Given the description of an element on the screen output the (x, y) to click on. 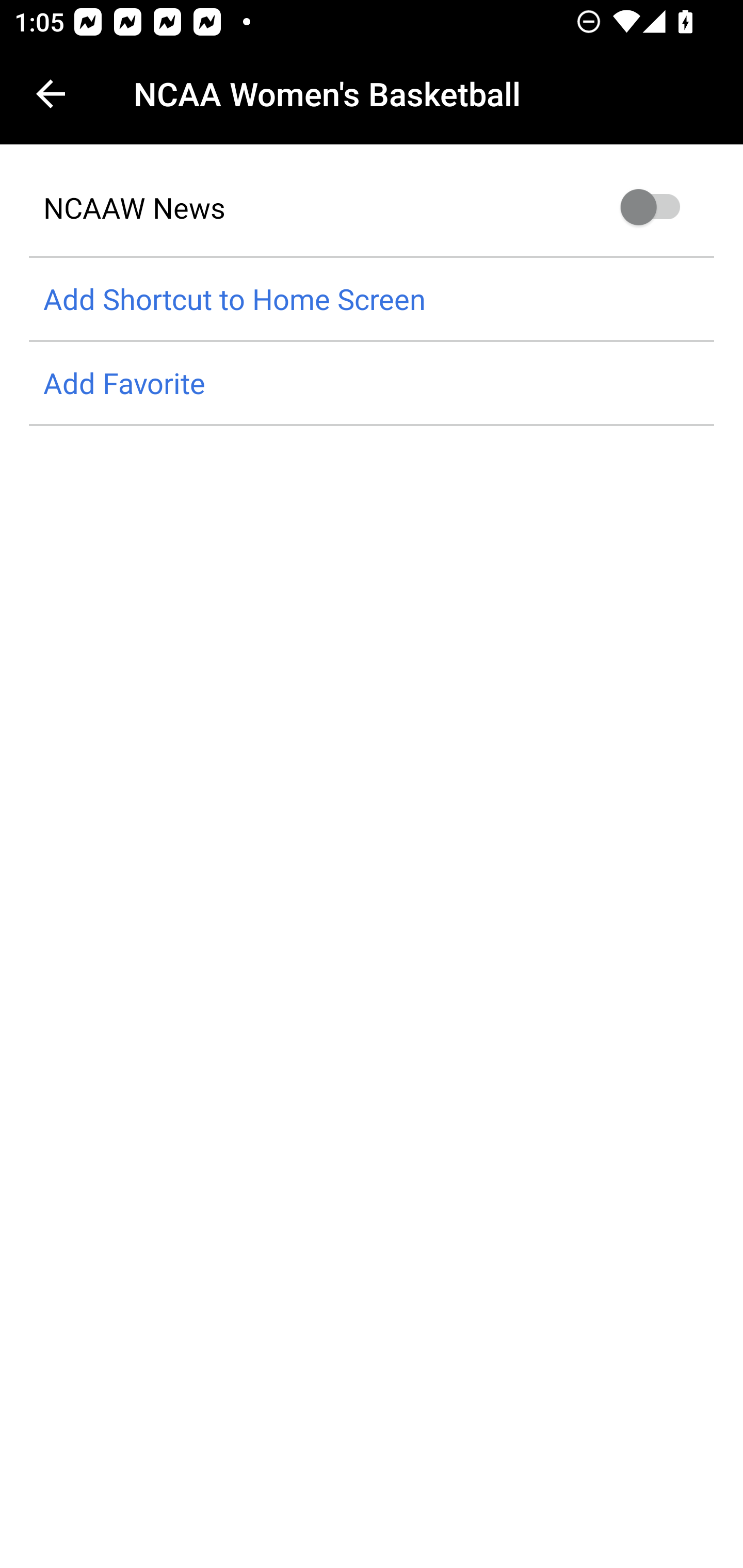
Navigate up (50, 93)
Add Shortcut to Home Screen (371, 299)
Add Favorite (371, 383)
